Given the description of an element on the screen output the (x, y) to click on. 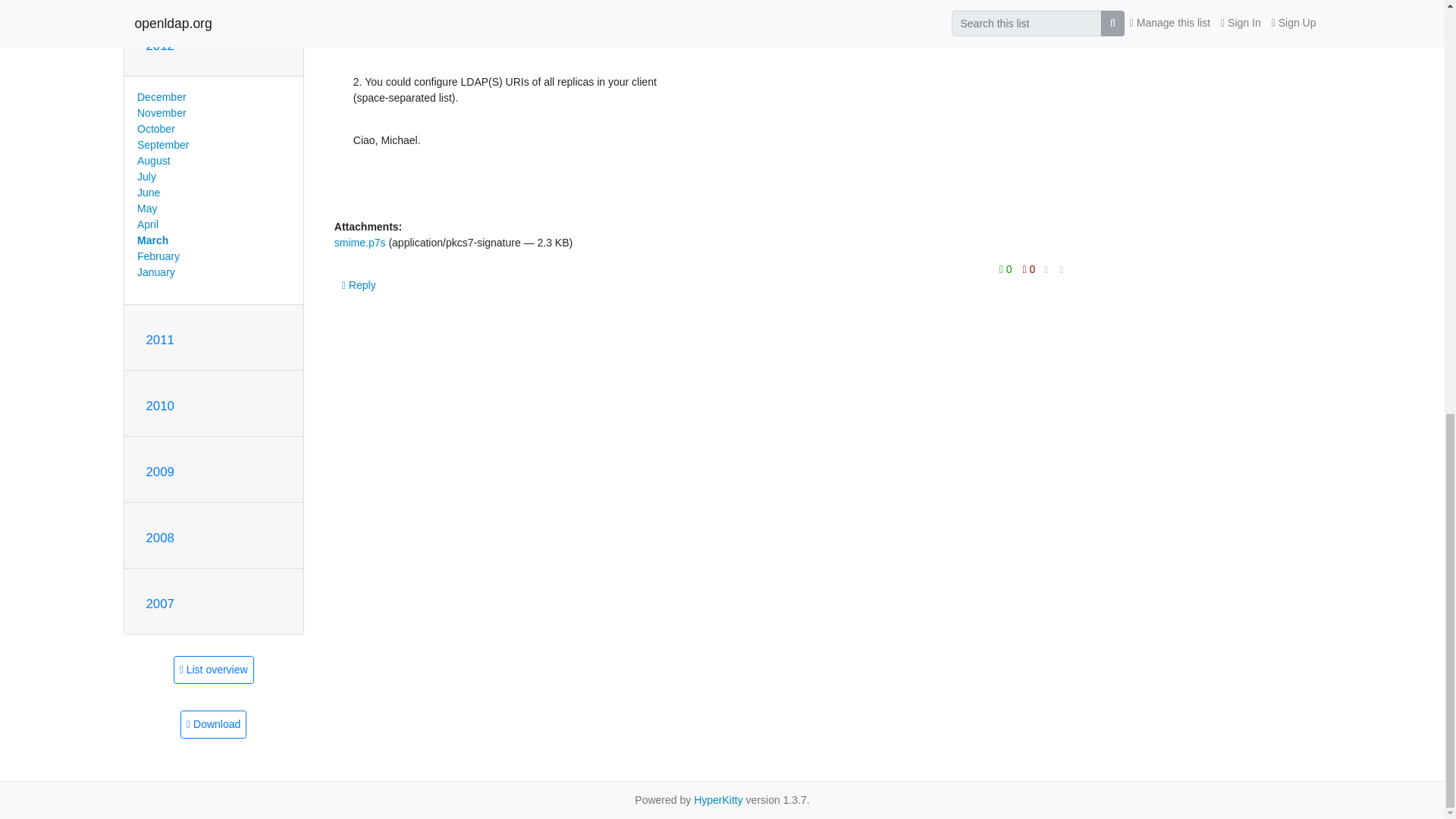
Permalink for this message (1061, 270)
Sign in to reply online (359, 284)
This message in gzipped mbox format (213, 724)
You must be logged-in to vote. (1007, 269)
You must be logged-in to vote. (1029, 269)
Display in fixed font (1046, 270)
